Given the description of an element on the screen output the (x, y) to click on. 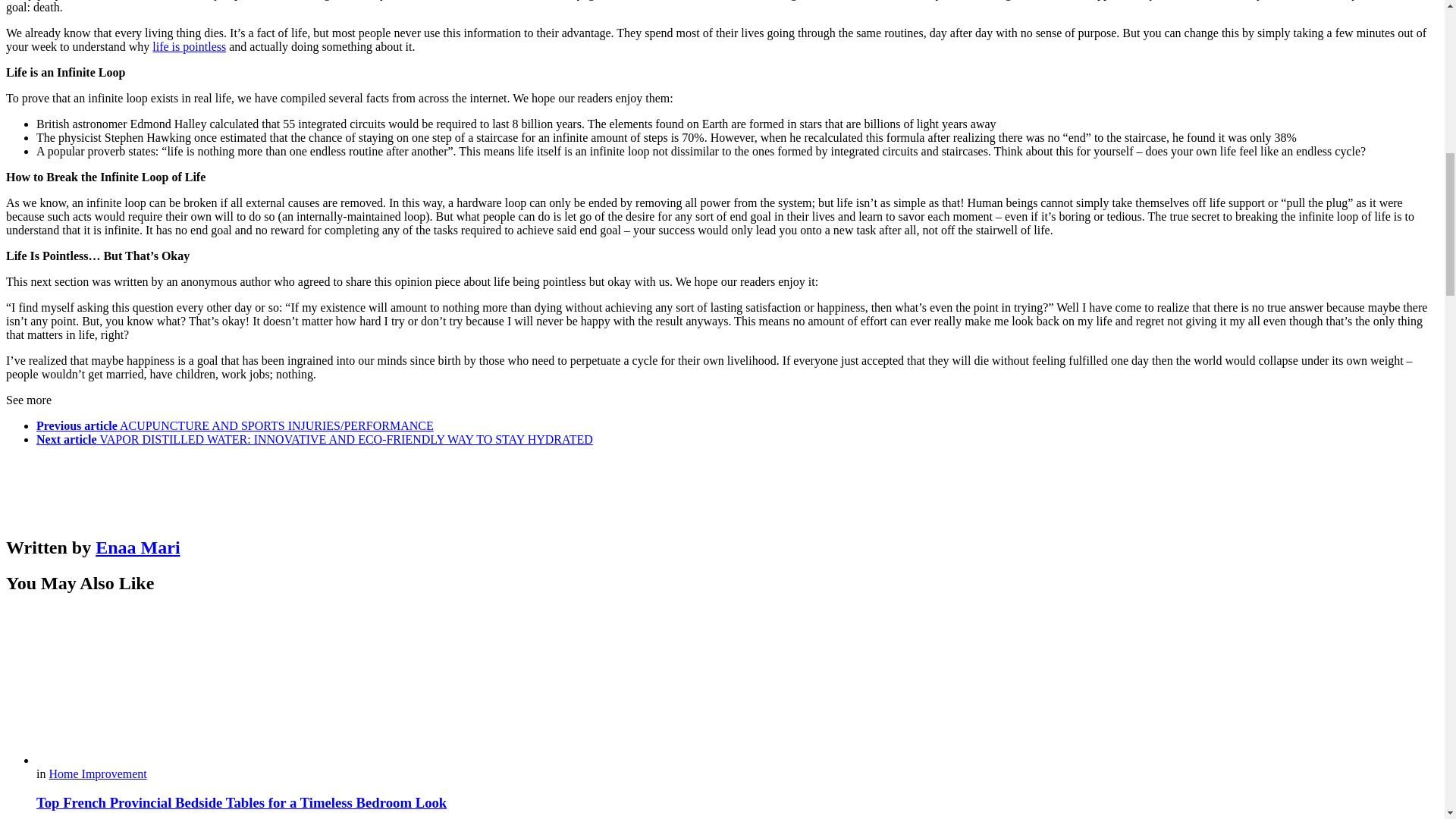
Enaa Mari (137, 547)
Home Improvement (97, 773)
life is pointless (188, 46)
